Given the description of an element on the screen output the (x, y) to click on. 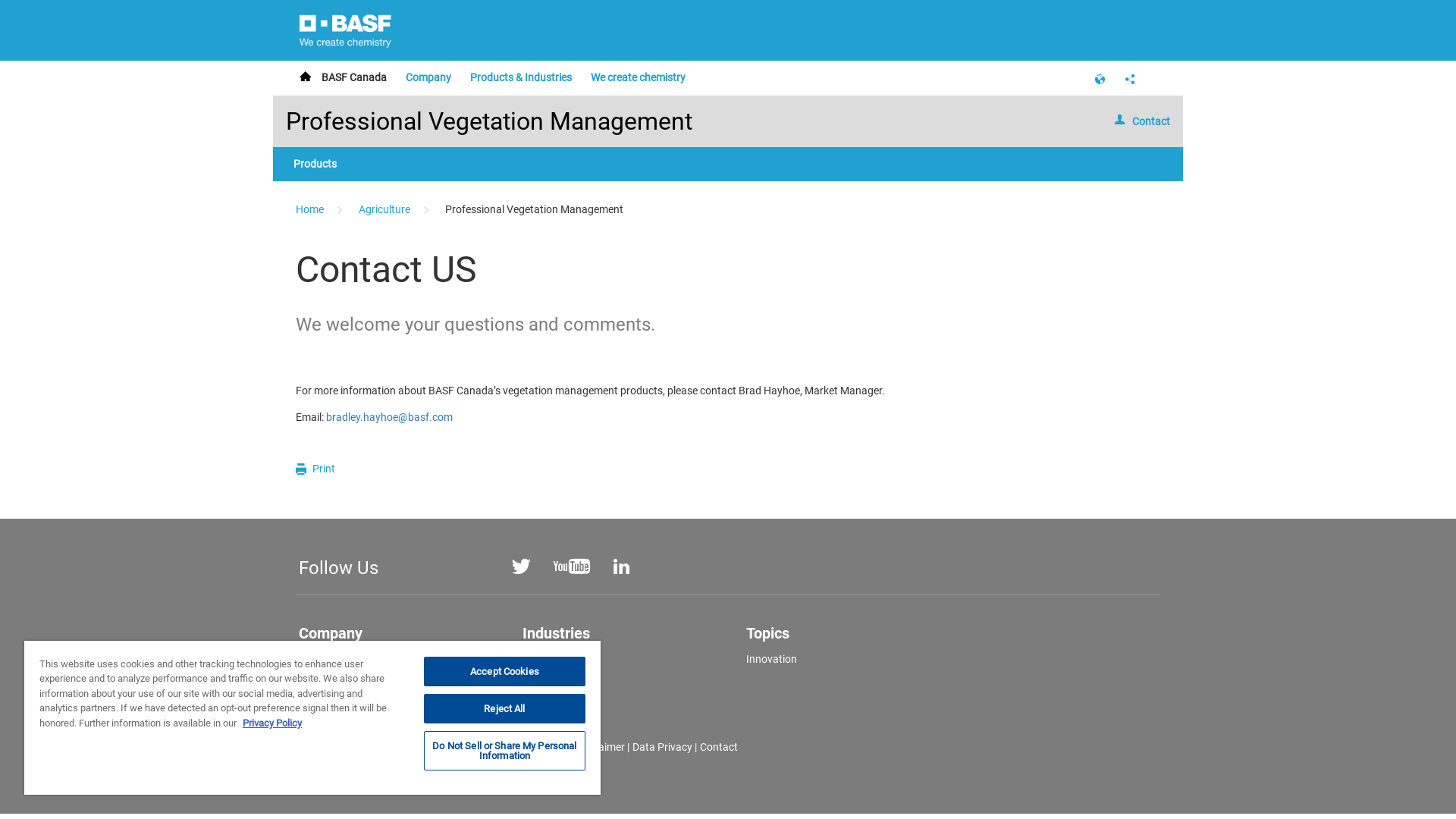
E-business | Element type: text (544, 746)
Disclaimer | Element type: text (601, 746)
Accept Cookies Element type: text (504, 671)
Products Element type: text (543, 658)
Innovation Element type: text (771, 658)
Privacy Policy Element type: text (271, 722)
bradley.hayhoe@basf.com Element type: text (389, 417)
Career Element type: text (313, 658)
Professional Vegetation Management Element type: text (534, 209)
Reject All Element type: text (504, 708)
Data Privacy | Element type: text (663, 746)
Print Element type: hover (303, 468)
Media Element type: text (312, 683)
Print Element type: text (315, 468)
Language Switcher Element type: hover (1099, 77)
Contact Element type: text (1135, 121)
Products & Industries Element type: text (520, 77)
Share Element type: hover (1129, 77)
Company Element type: text (428, 77)
Home Element type: hover (309, 77)
We create chemistry Element type: text (637, 77)
Do Not Sell or Share My Personal Information Element type: text (504, 750)
Products Element type: text (314, 163)
Sustainability Element type: text (330, 707)
Contact Element type: text (717, 746)
Home Element type: text (310, 209)
Professional Vegetation Management Element type: text (488, 121)
Agriculture Element type: text (385, 209)
